Given the description of an element on the screen output the (x, y) to click on. 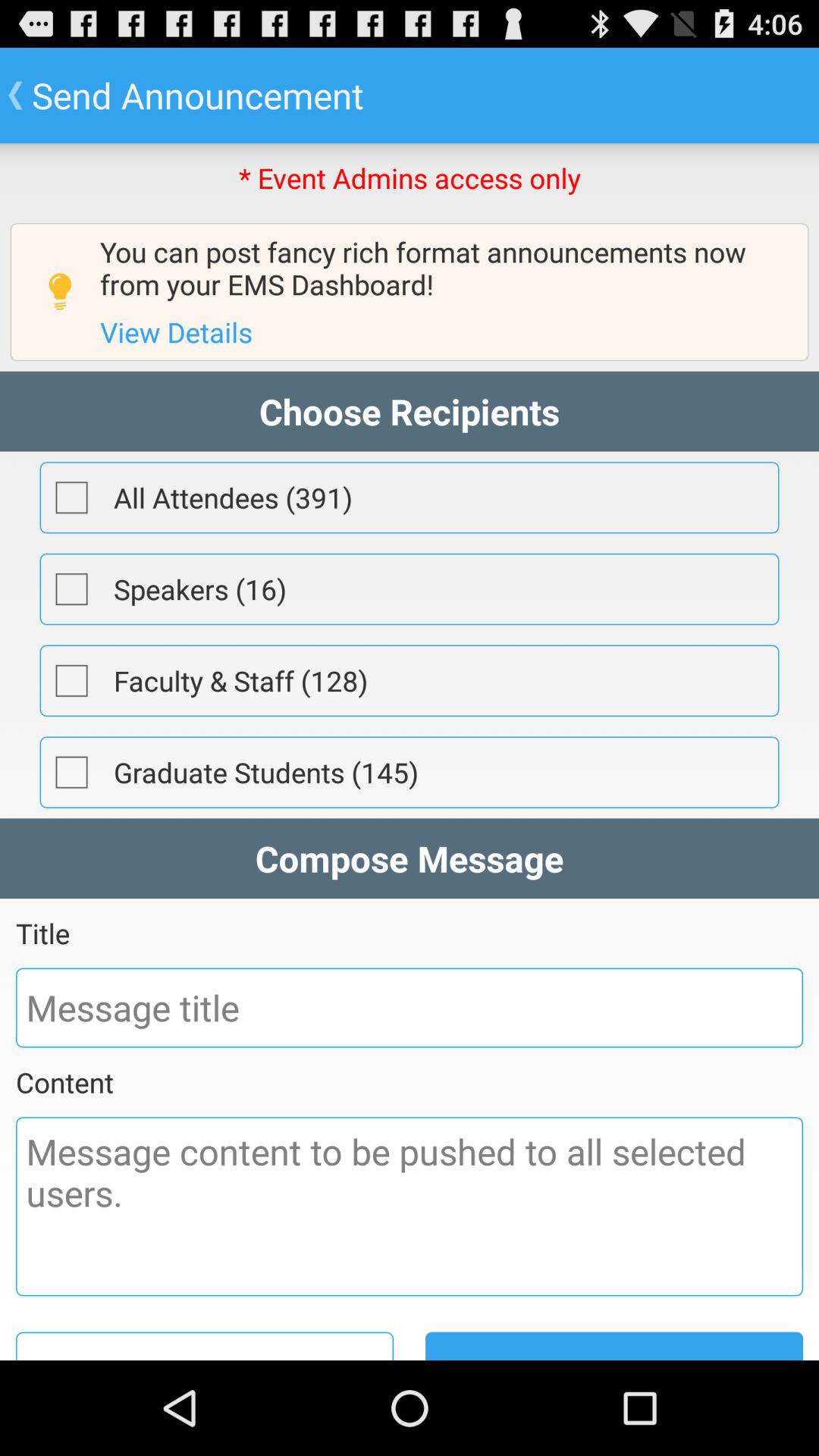
launch save (204, 1346)
